Given the description of an element on the screen output the (x, y) to click on. 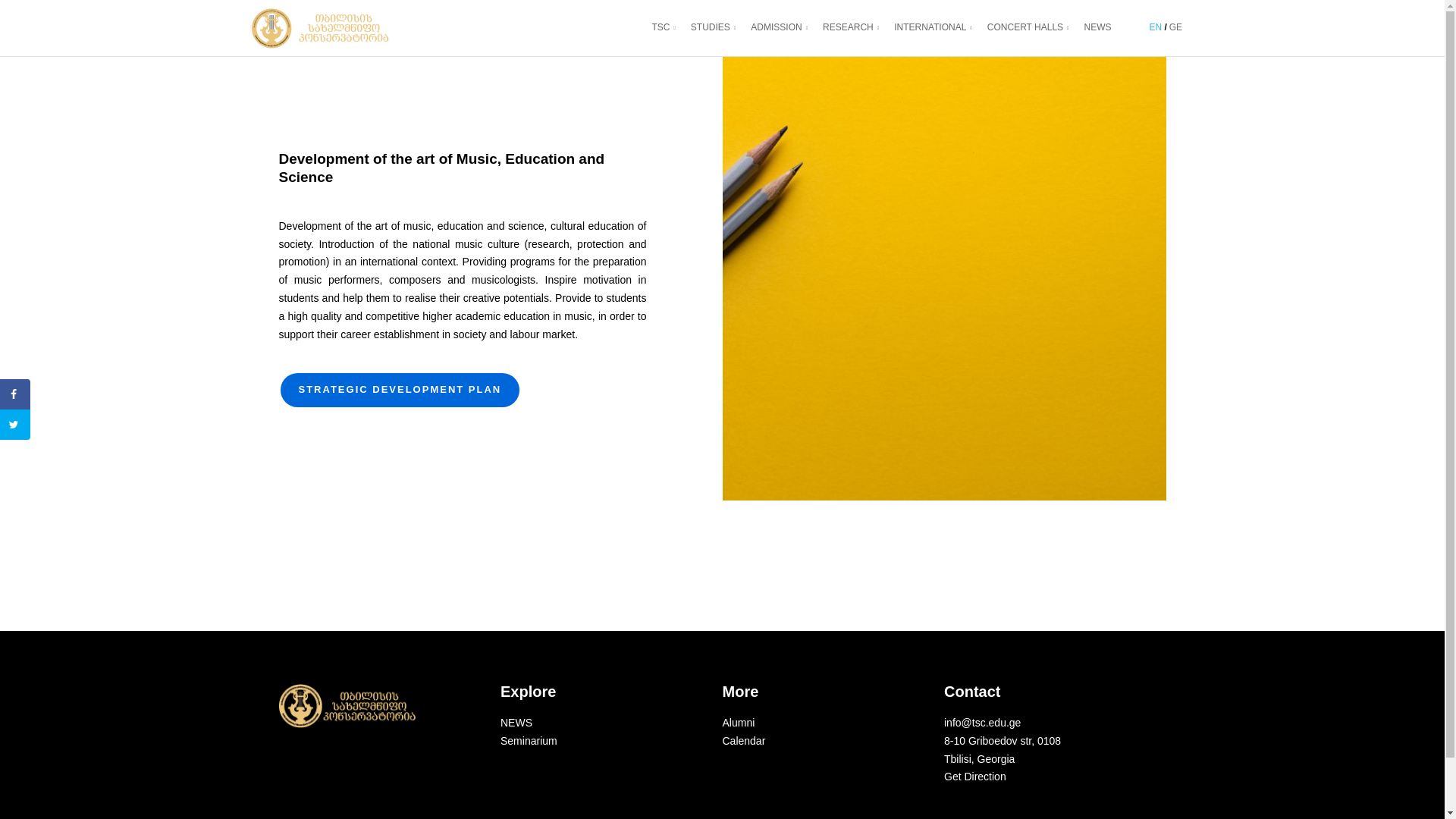
Share on Facebook (15, 394)
Share on Twitter (15, 424)
